Given the description of an element on the screen output the (x, y) to click on. 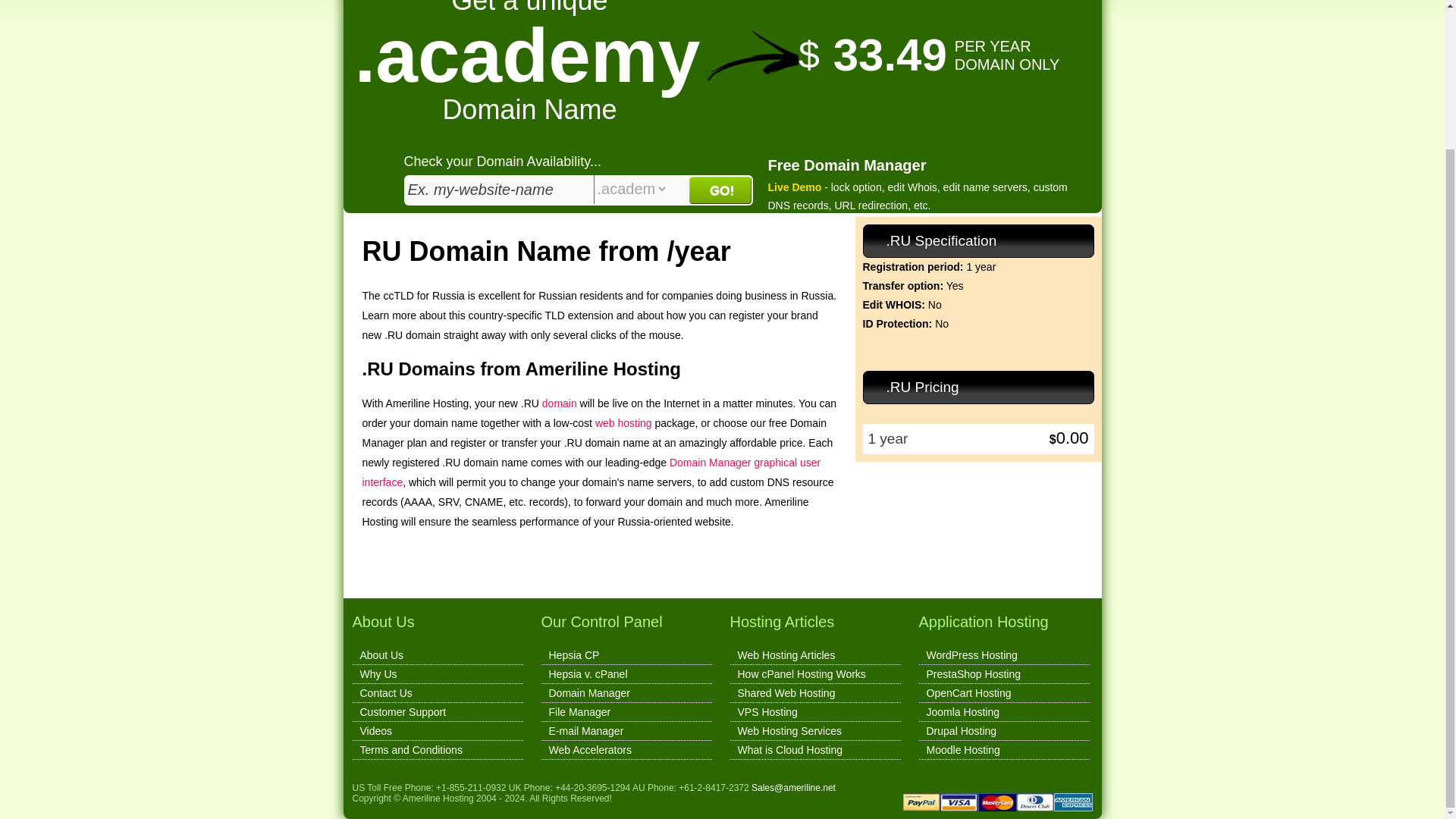
domain (558, 403)
Contact Us (385, 693)
Why Us (377, 674)
web hosting (623, 422)
Domain Manager graphical user interface (591, 472)
Live Demo (794, 186)
Customer Support (402, 711)
About Us (381, 654)
Ex. my-website-name (498, 189)
text (498, 189)
